Given the description of an element on the screen output the (x, y) to click on. 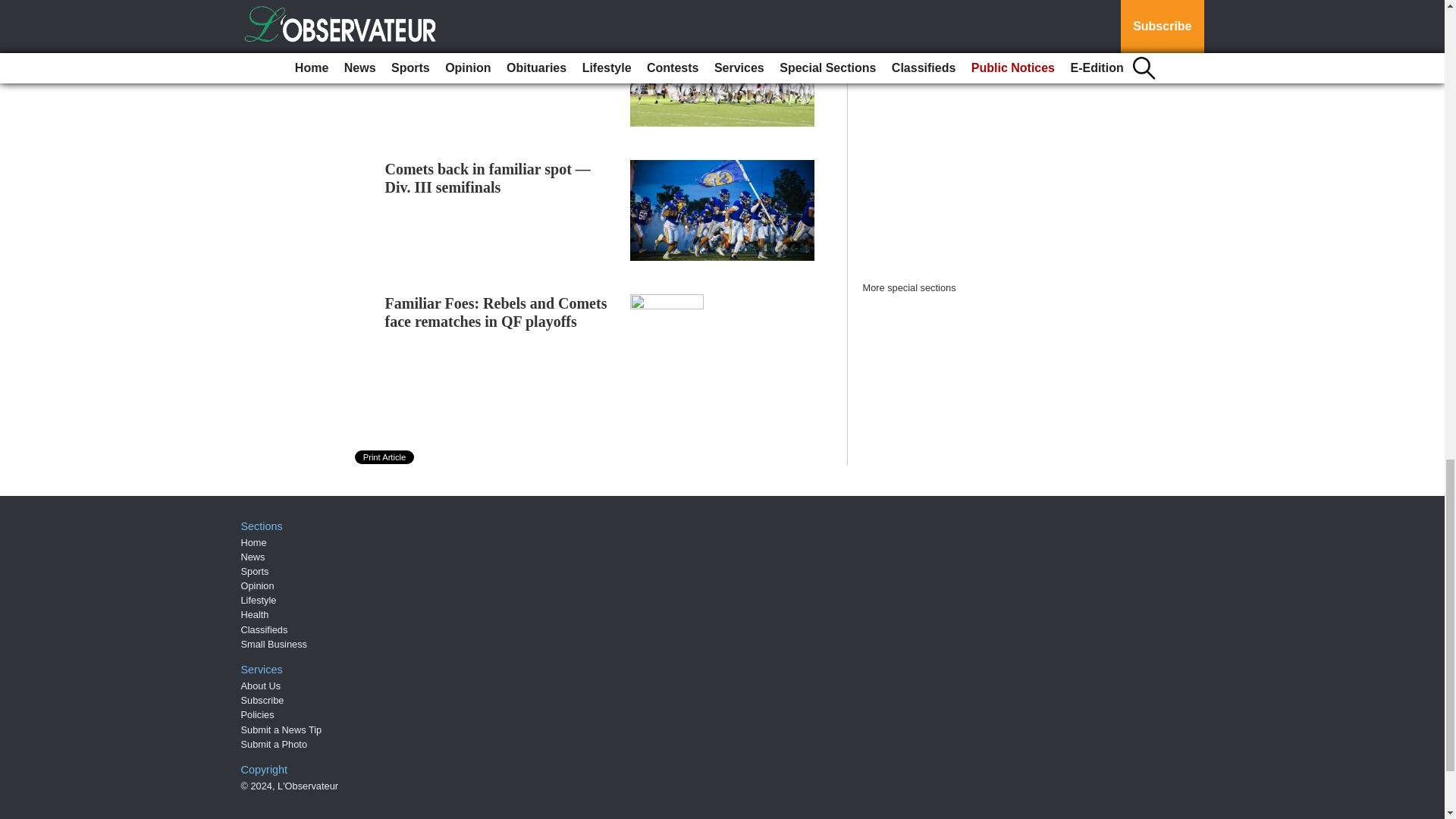
Print Article (384, 457)
